Given the description of an element on the screen output the (x, y) to click on. 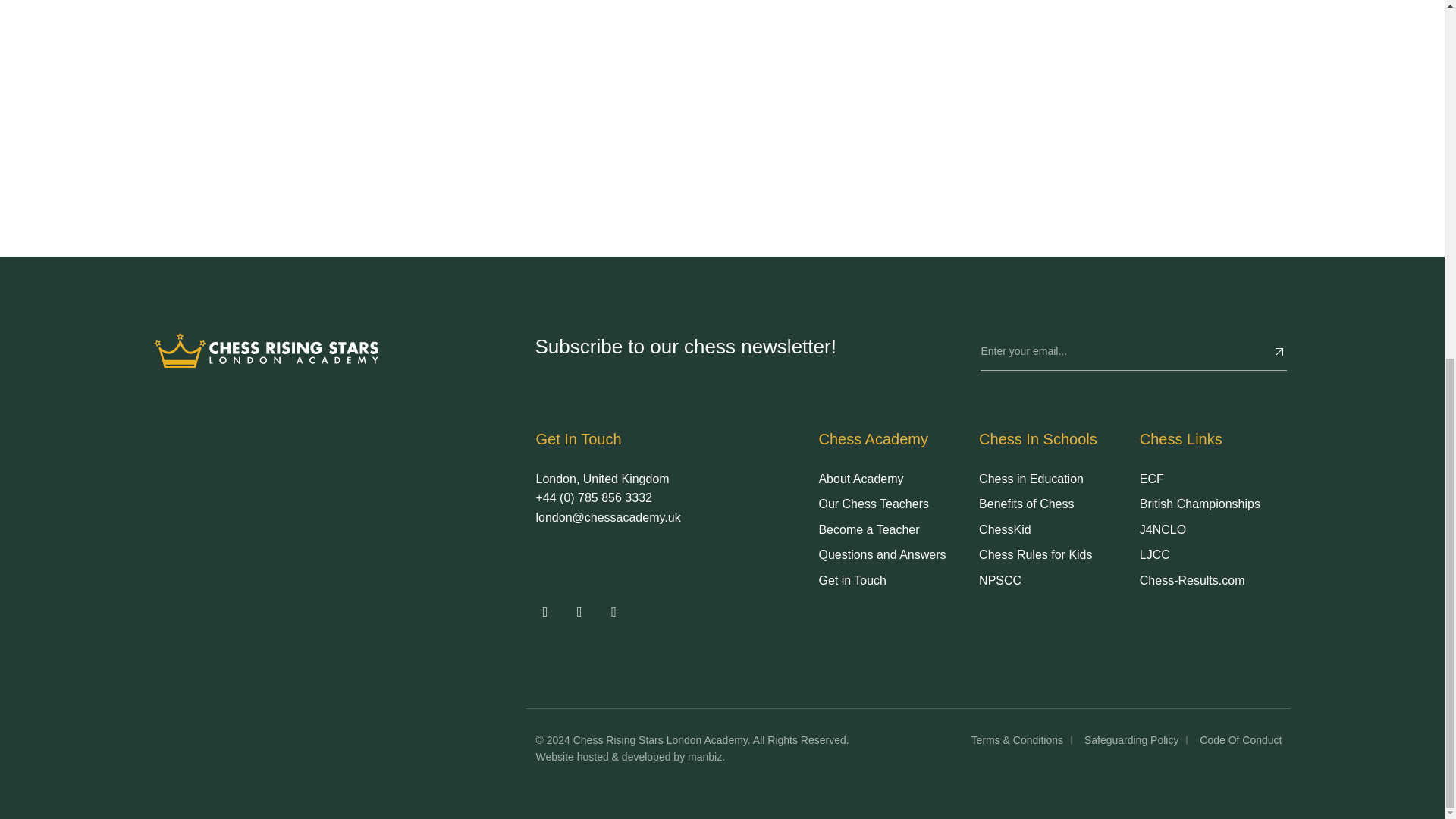
Chess Rising Stars (265, 349)
Twitter (544, 612)
Instagram (579, 612)
LinkedIn (613, 612)
